Given the description of an element on the screen output the (x, y) to click on. 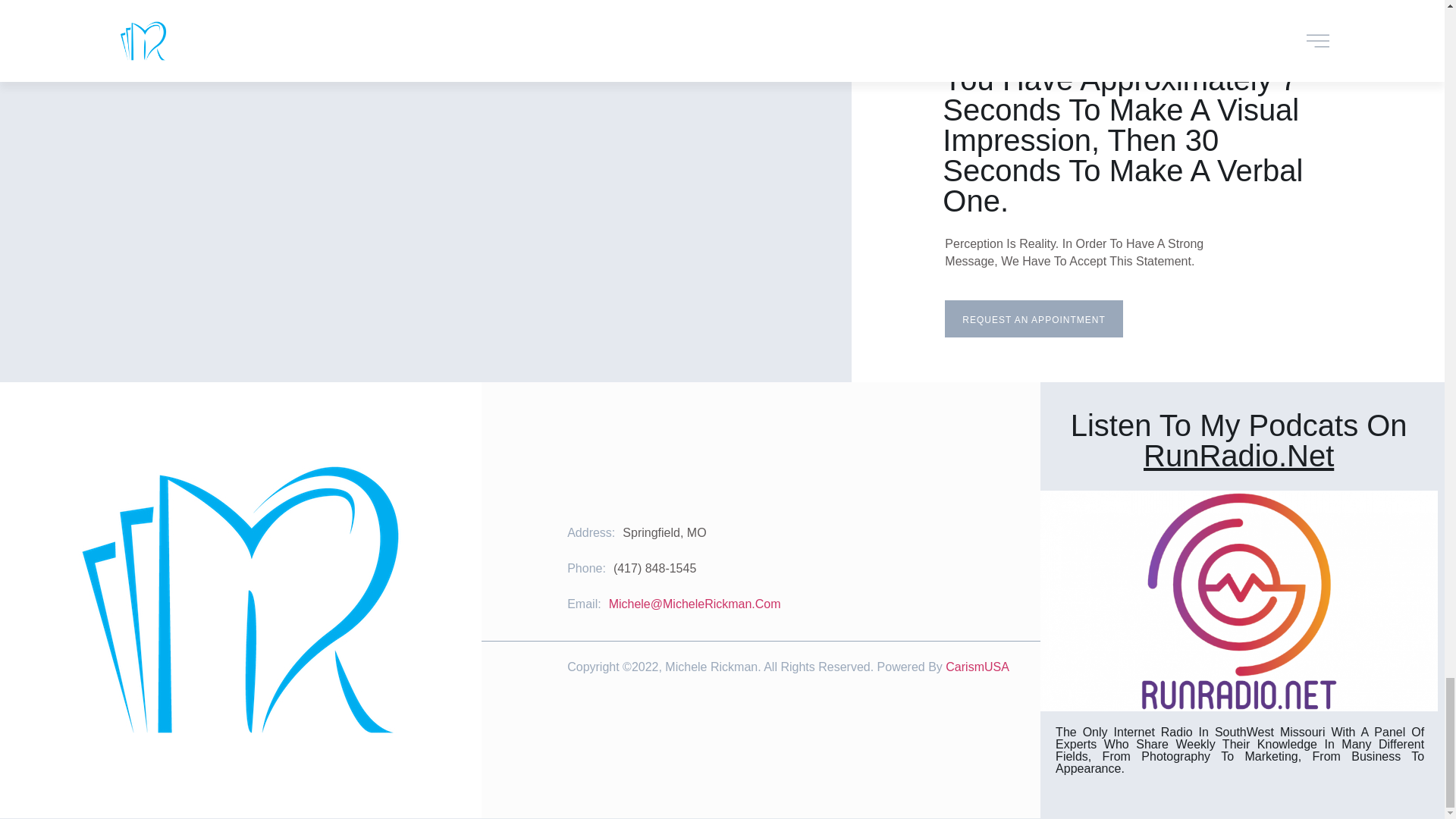
REQUEST AN APPOINTMENT (1033, 318)
CarismUSA (976, 666)
Listen To My Podcats On RunRadio.Net (1238, 440)
